Given the description of an element on the screen output the (x, y) to click on. 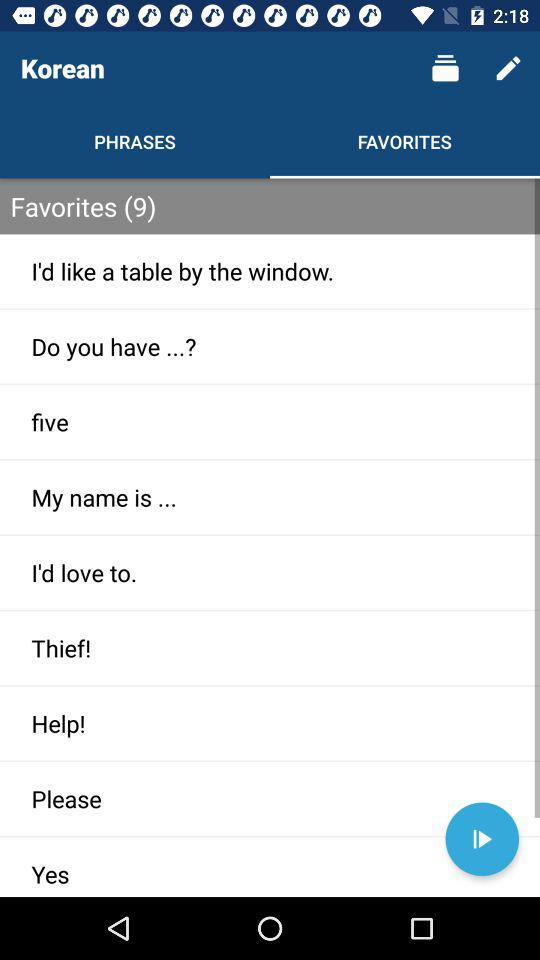
play korean sound (482, 839)
